Given the description of an element on the screen output the (x, y) to click on. 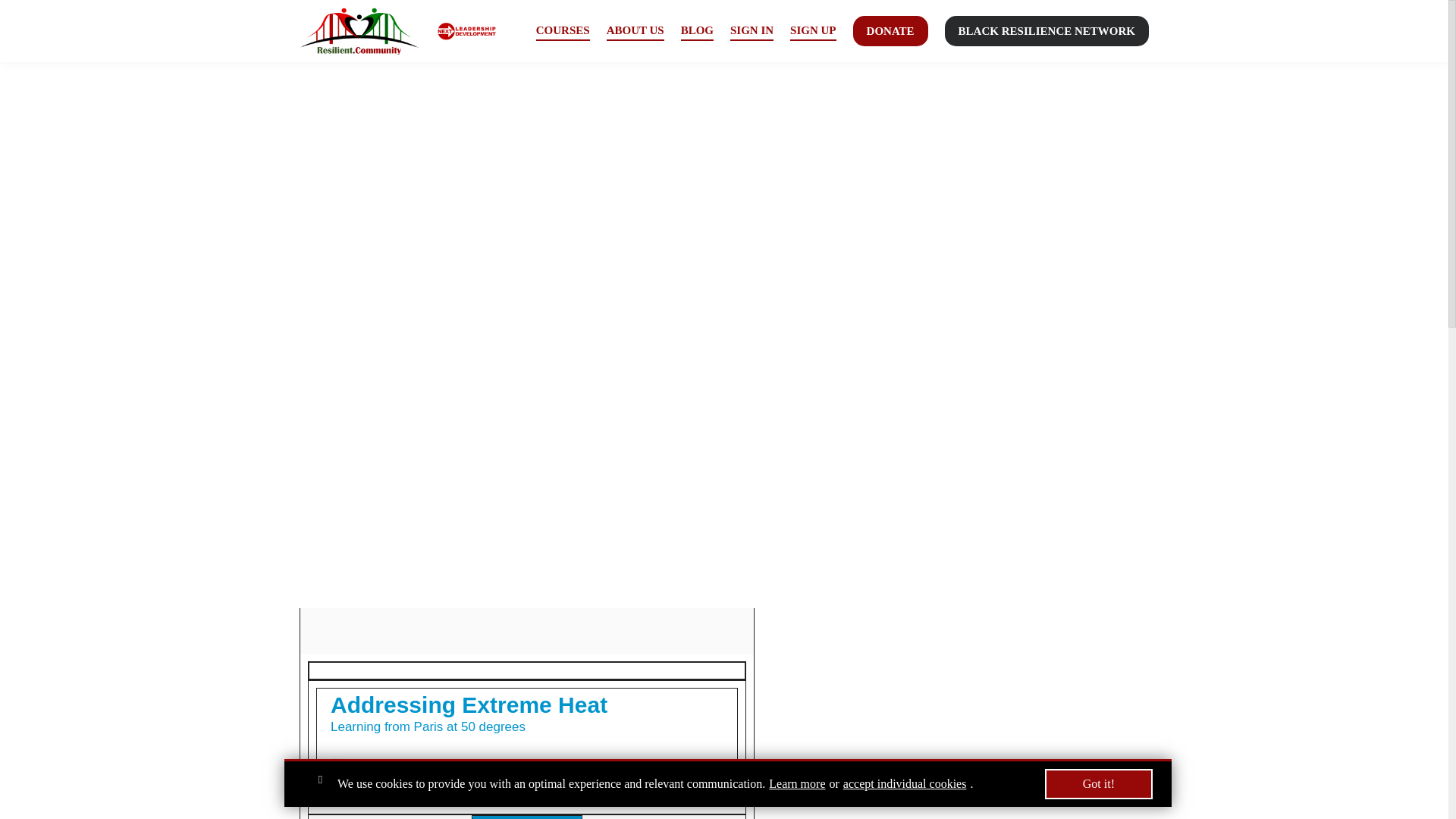
ABOUT US (635, 31)
BLOG (697, 31)
SIGN IN (751, 31)
SIGN UP (812, 31)
COURSES (562, 31)
BLACK RESILIENCE NETWORK (1046, 30)
DONATE (890, 30)
